Given the description of an element on the screen output the (x, y) to click on. 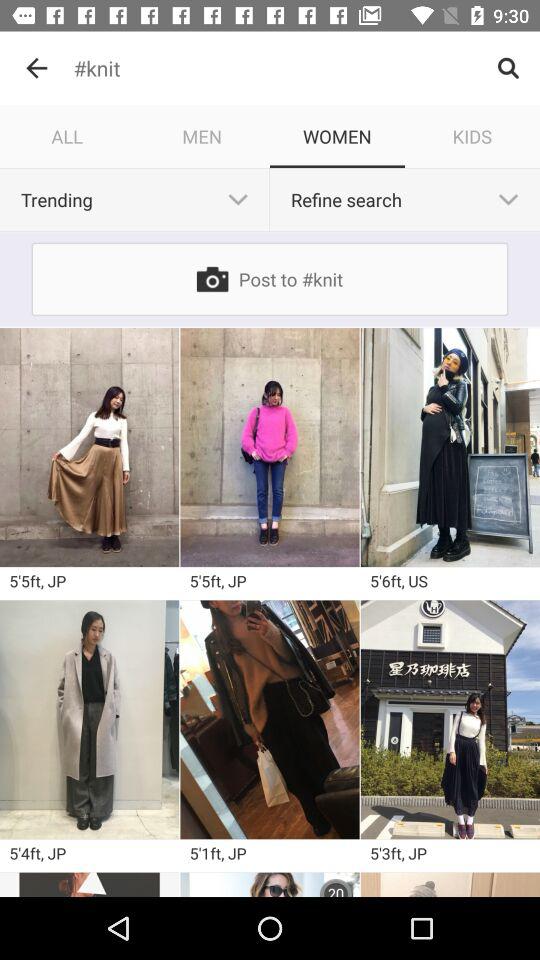
scroll until the women icon (337, 136)
